Given the description of an element on the screen output the (x, y) to click on. 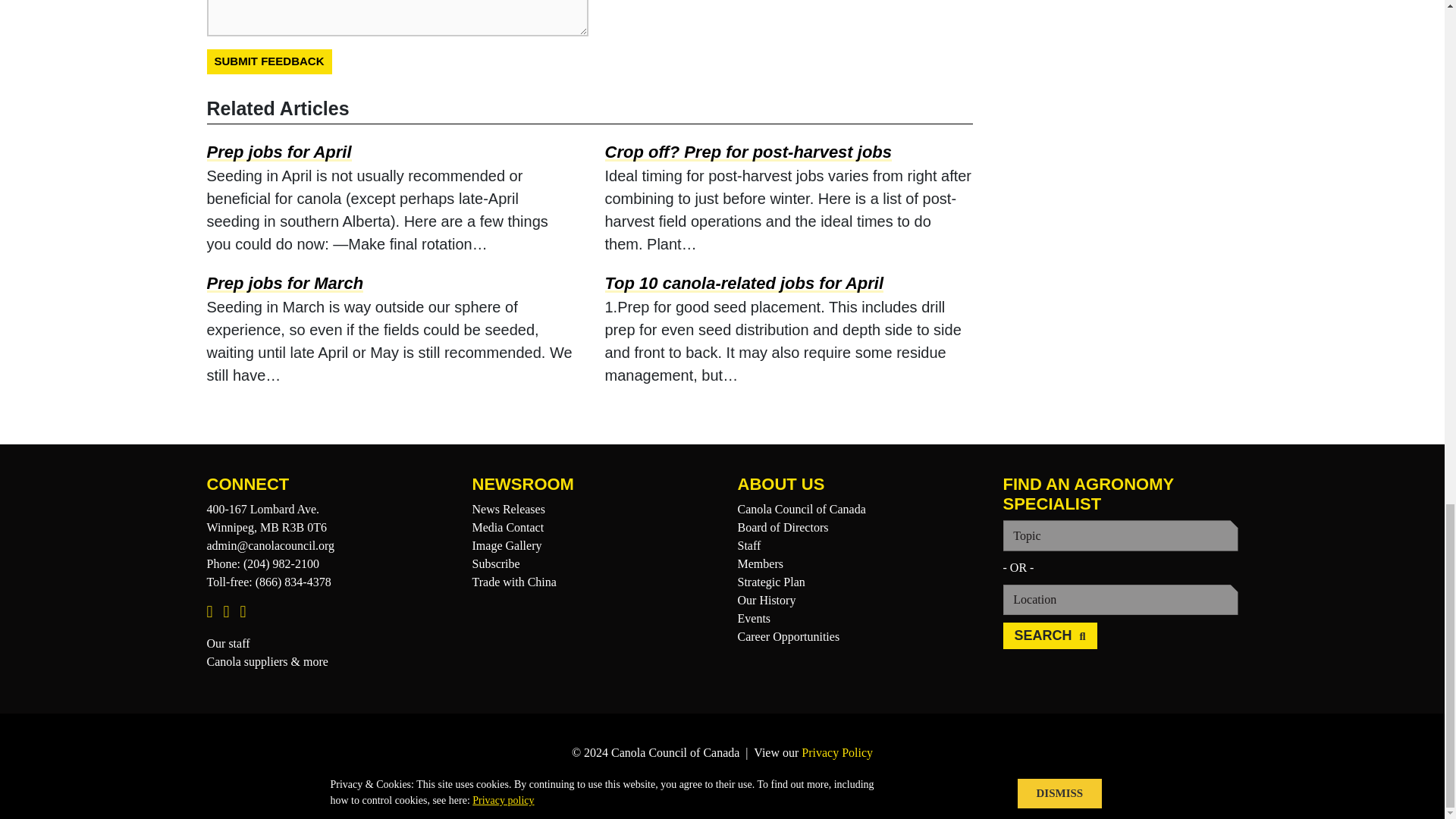
Submit Feedback (268, 61)
